Given the description of an element on the screen output the (x, y) to click on. 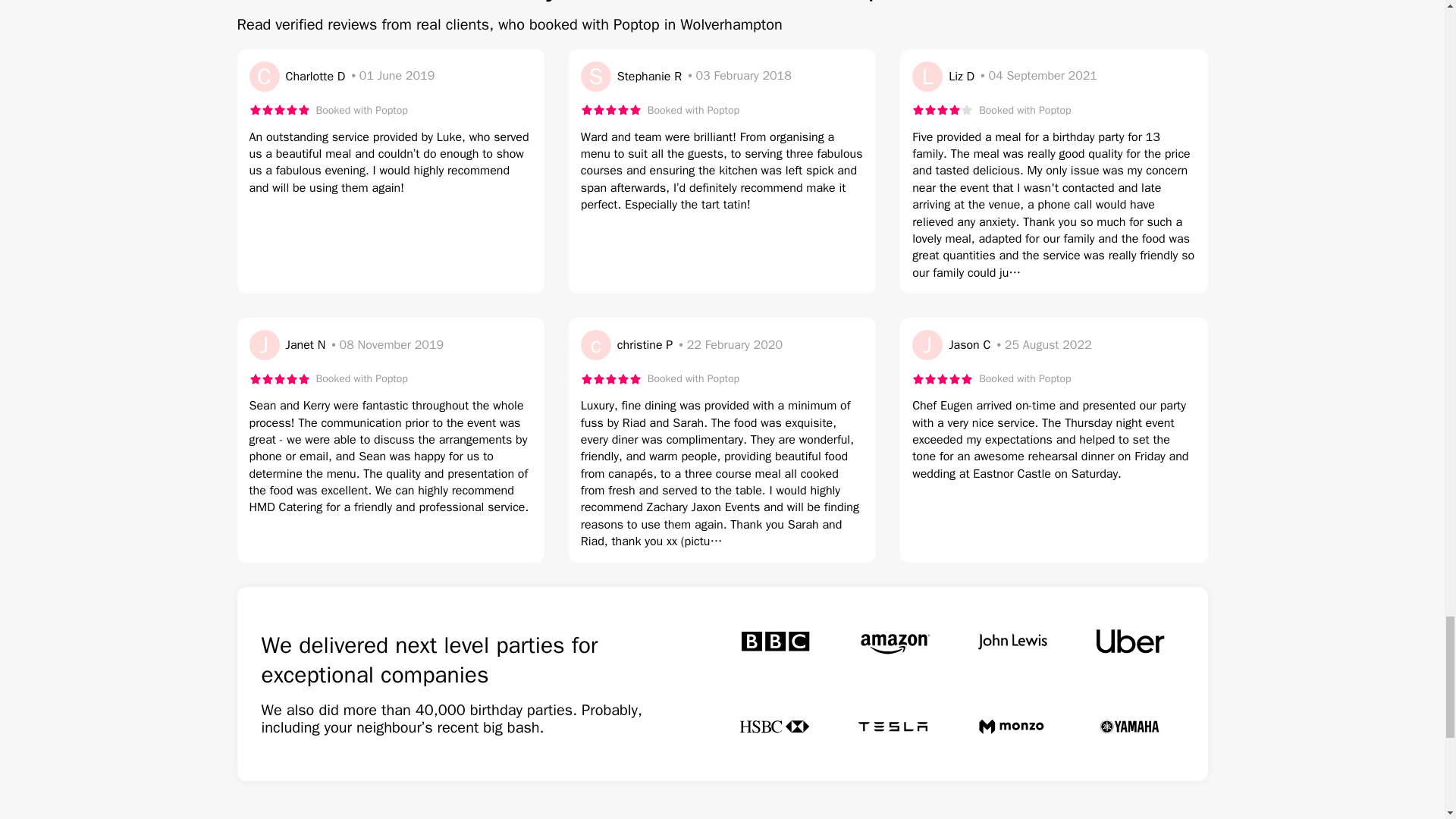
Caterers (415, 818)
